Given the description of an element on the screen output the (x, y) to click on. 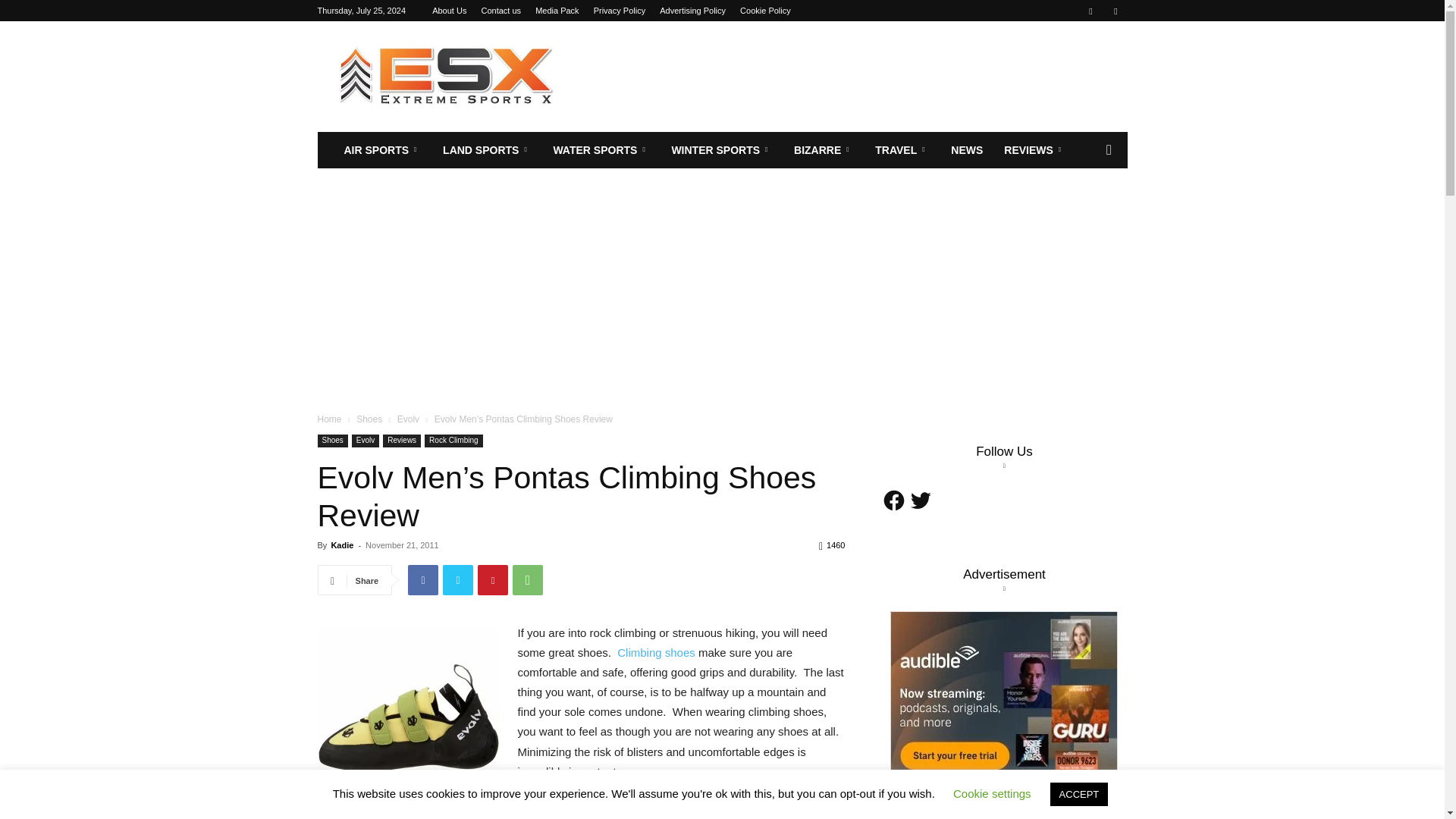
Twitter (457, 580)
Facebook (422, 580)
WhatsApp (527, 580)
Pinterest (492, 580)
View all posts in Evolv (408, 419)
View all posts in Shoes (368, 419)
Twitter (1114, 10)
Facebook (1090, 10)
